Given the description of an element on the screen output the (x, y) to click on. 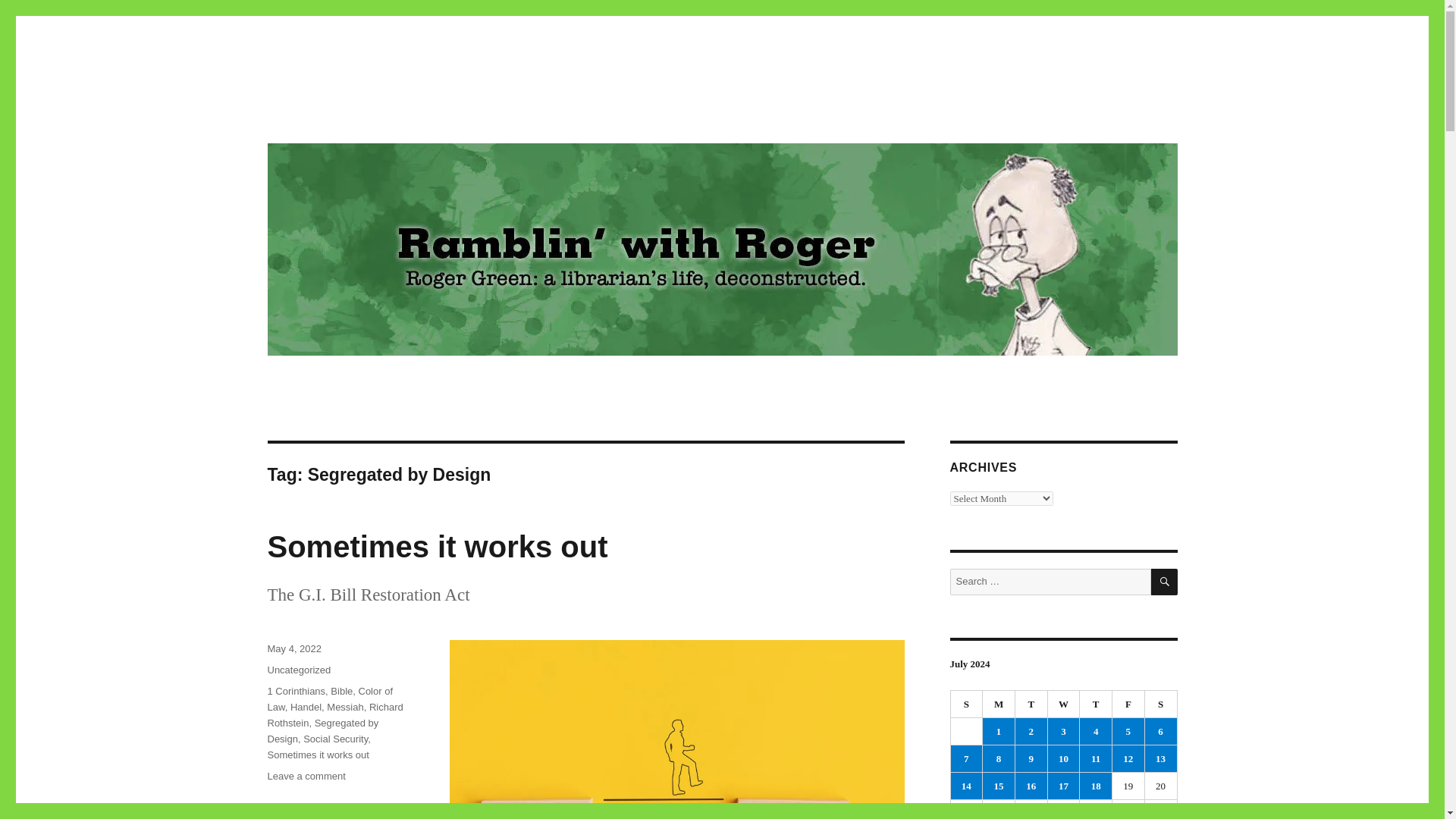
Sometimes it works out (436, 546)
Messiah (344, 706)
Segregated by Design (322, 730)
May 4, 2022 (293, 648)
Handel (305, 776)
Color of Law (305, 706)
1 Corinthians (329, 698)
Sometimes it works out (295, 690)
Saturday (317, 754)
Sunday (1160, 704)
Uncategorized (967, 704)
Monday (298, 669)
Ramblin' with Roger (998, 704)
Friday (368, 114)
